Given the description of an element on the screen output the (x, y) to click on. 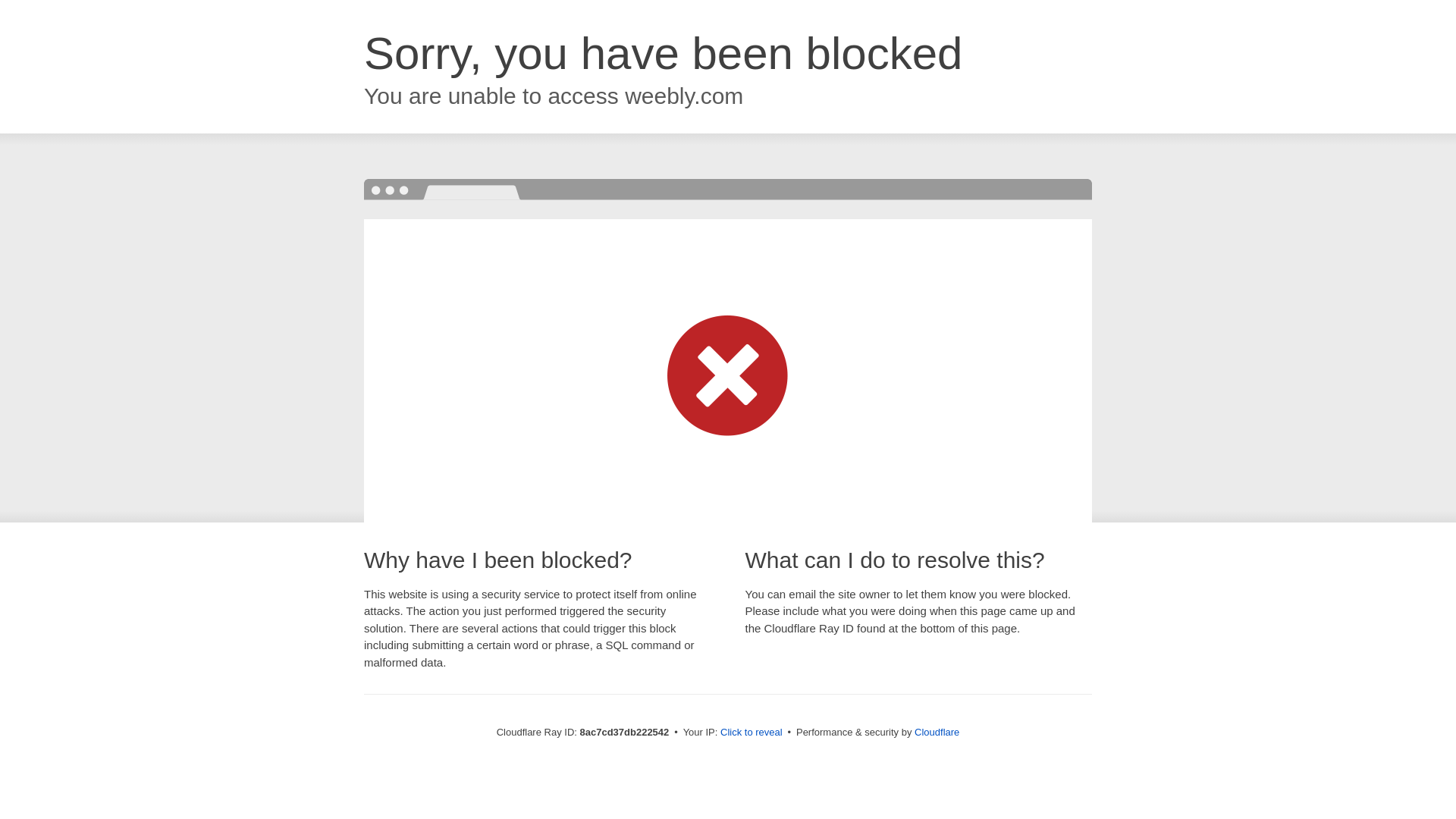
Cloudflare (936, 731)
Click to reveal (751, 732)
